Given the description of an element on the screen output the (x, y) to click on. 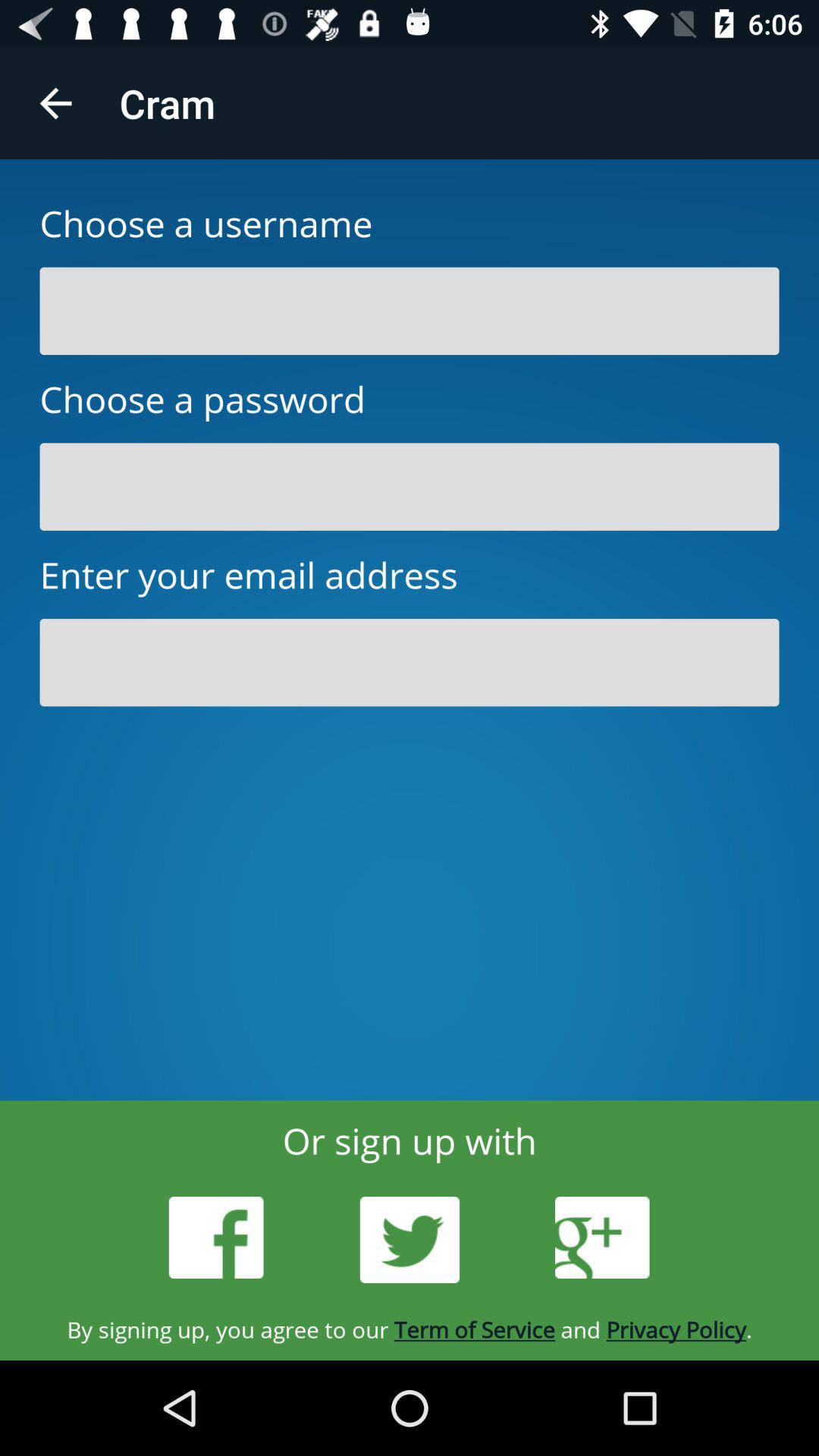
sign up with facebook (216, 1237)
